Given the description of an element on the screen output the (x, y) to click on. 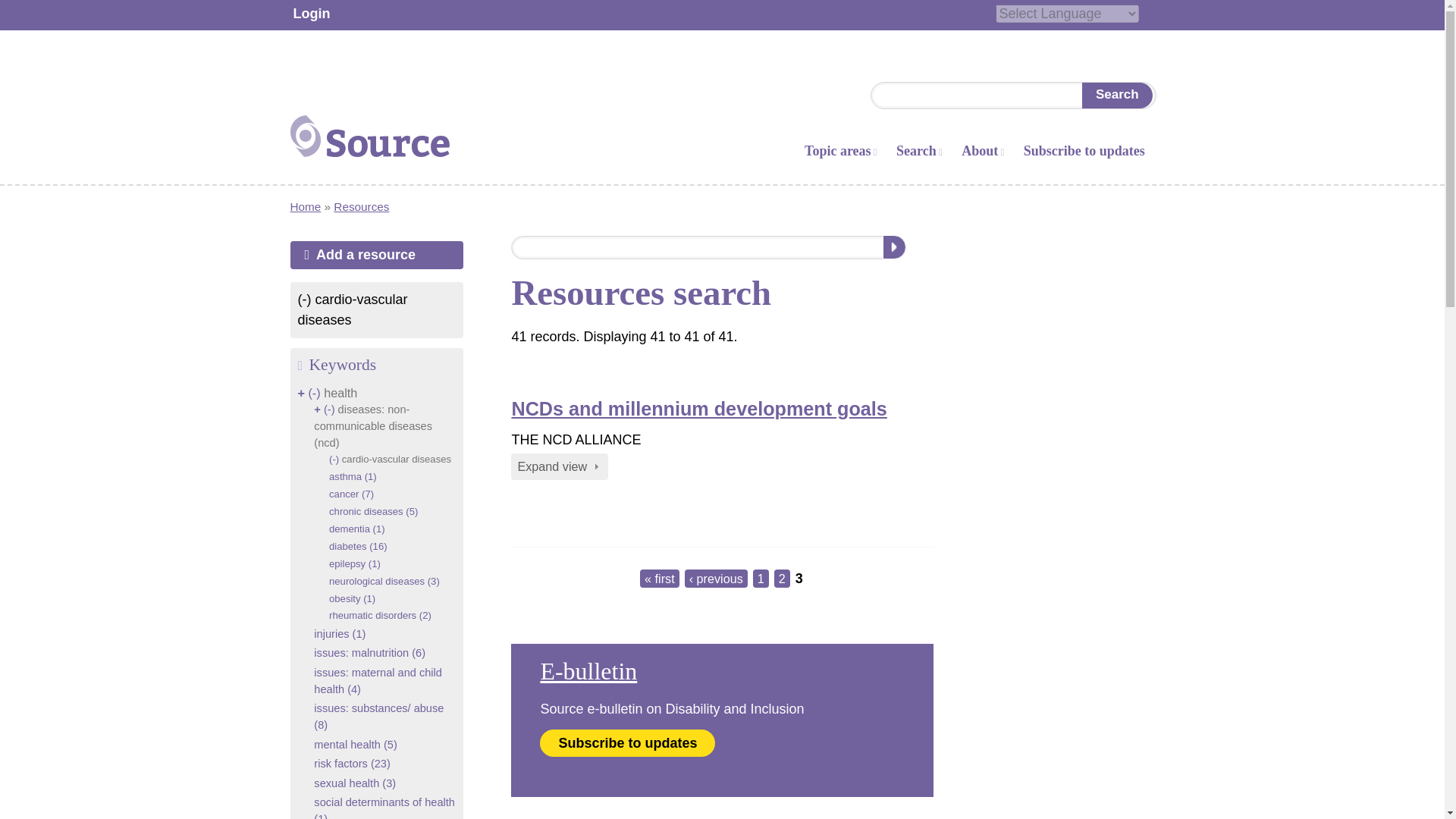
Search (1116, 95)
Login (312, 13)
Search our database of resources (708, 247)
Select language (1066, 13)
Go to first page (659, 578)
Subscribe to updates (1083, 151)
Search Resources (893, 247)
Source (368, 159)
Add a resource (376, 254)
Resources (360, 205)
Go to previous page (716, 578)
Home (304, 205)
Search (1116, 95)
Go to page 1 (760, 578)
